Given the description of an element on the screen output the (x, y) to click on. 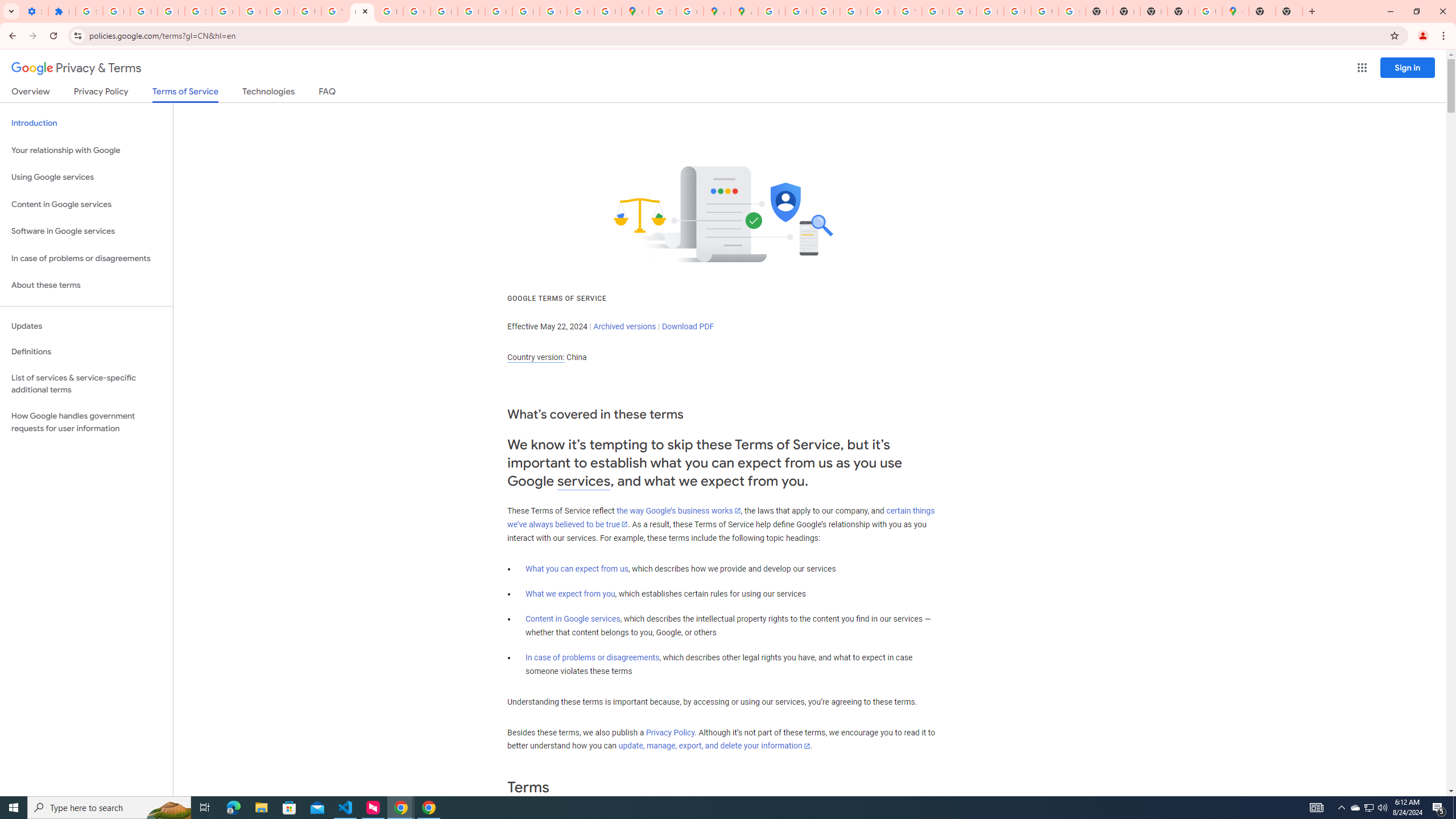
Sign in - Google Accounts (197, 11)
services (583, 480)
Use Google Maps in Space - Google Maps Help (1208, 11)
Privacy Help Center - Policies Help (444, 11)
New Tab (1180, 11)
What you can expect from us (576, 568)
Sign in - Google Accounts (662, 11)
Google Maps (1235, 11)
Archived versions (624, 326)
